Given the description of an element on the screen output the (x, y) to click on. 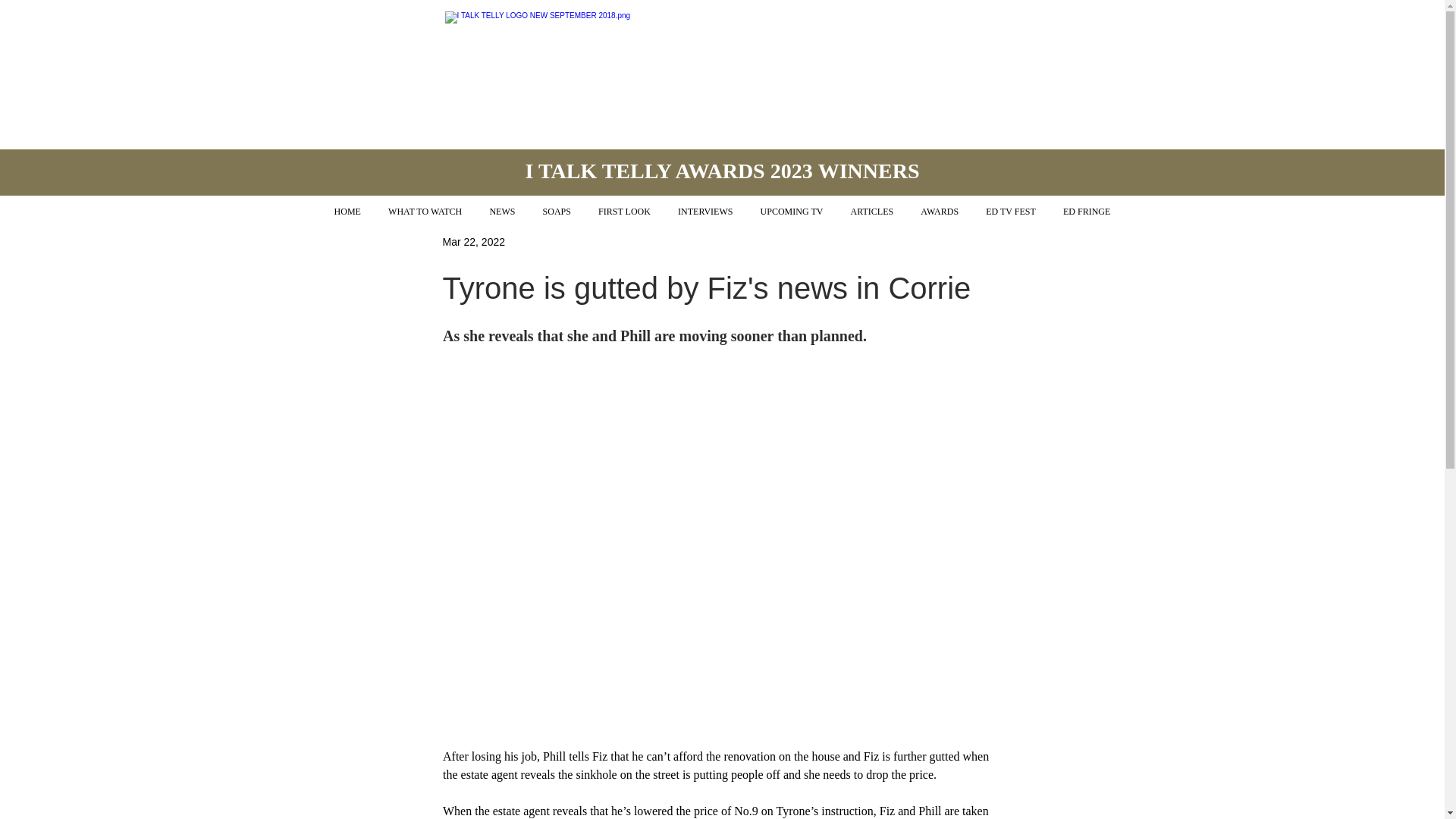
I TALK TELLY AWARDS 2023 WINNERS (721, 170)
UPCOMING TV (791, 212)
ED TV FEST (1010, 212)
AWARDS (939, 212)
HOME (347, 212)
ED FRINGE (1086, 212)
NEWS (502, 212)
Mar 22, 2022 (473, 241)
FIRST LOOK (624, 212)
WHAT TO WATCH (424, 212)
